Given the description of an element on the screen output the (x, y) to click on. 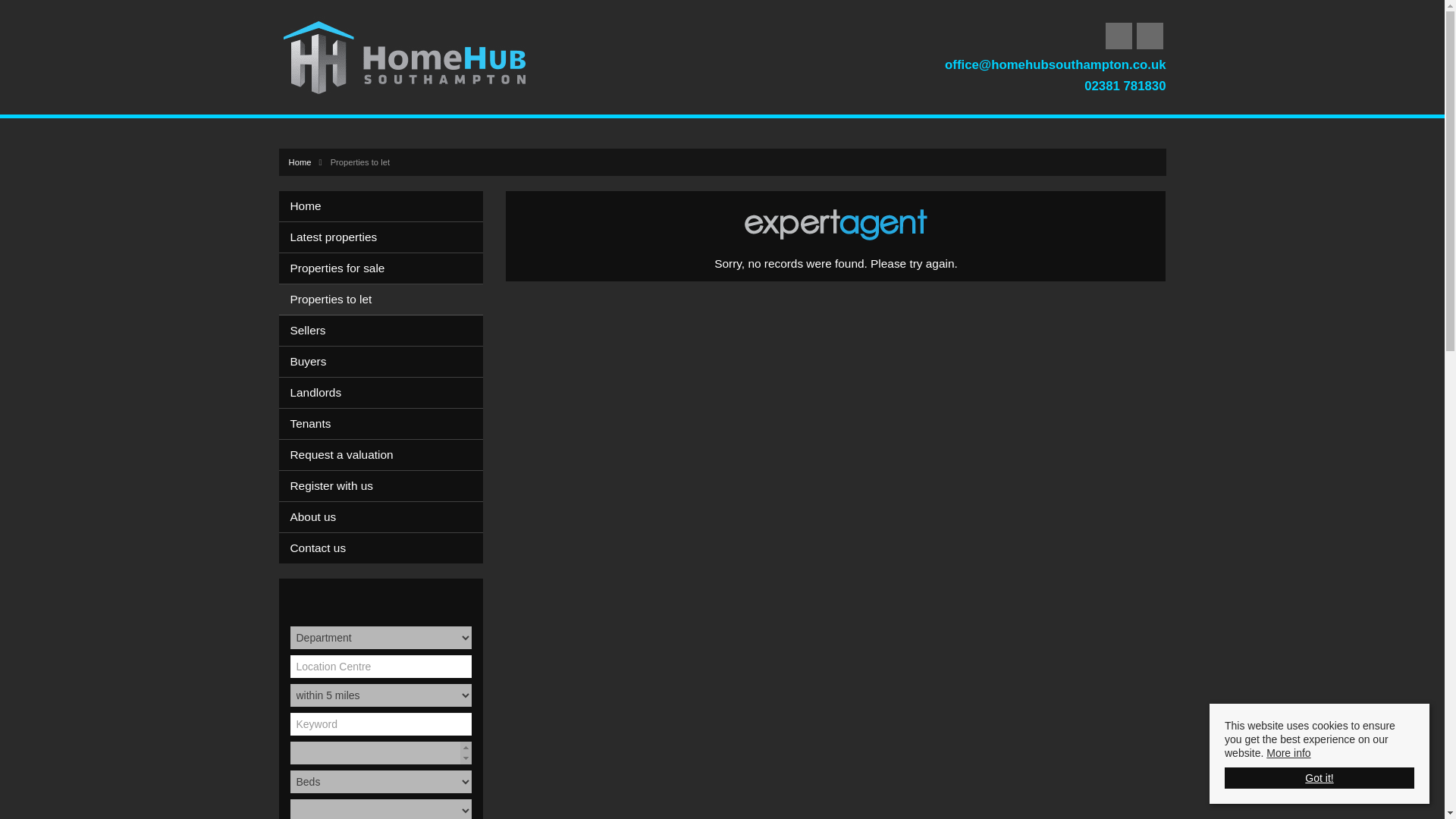
Properties to let (360, 162)
Properties for sale (386, 268)
Properties to let (386, 299)
Contact us (386, 548)
Tenants (386, 423)
Buyers (386, 361)
Register with us (386, 485)
About us (386, 517)
02381 781830 (1125, 85)
More info (1288, 752)
Landlords (386, 392)
Got it! (1318, 777)
Latest properties (386, 236)
Sellers (386, 330)
Home (386, 205)
